Given the description of an element on the screen output the (x, y) to click on. 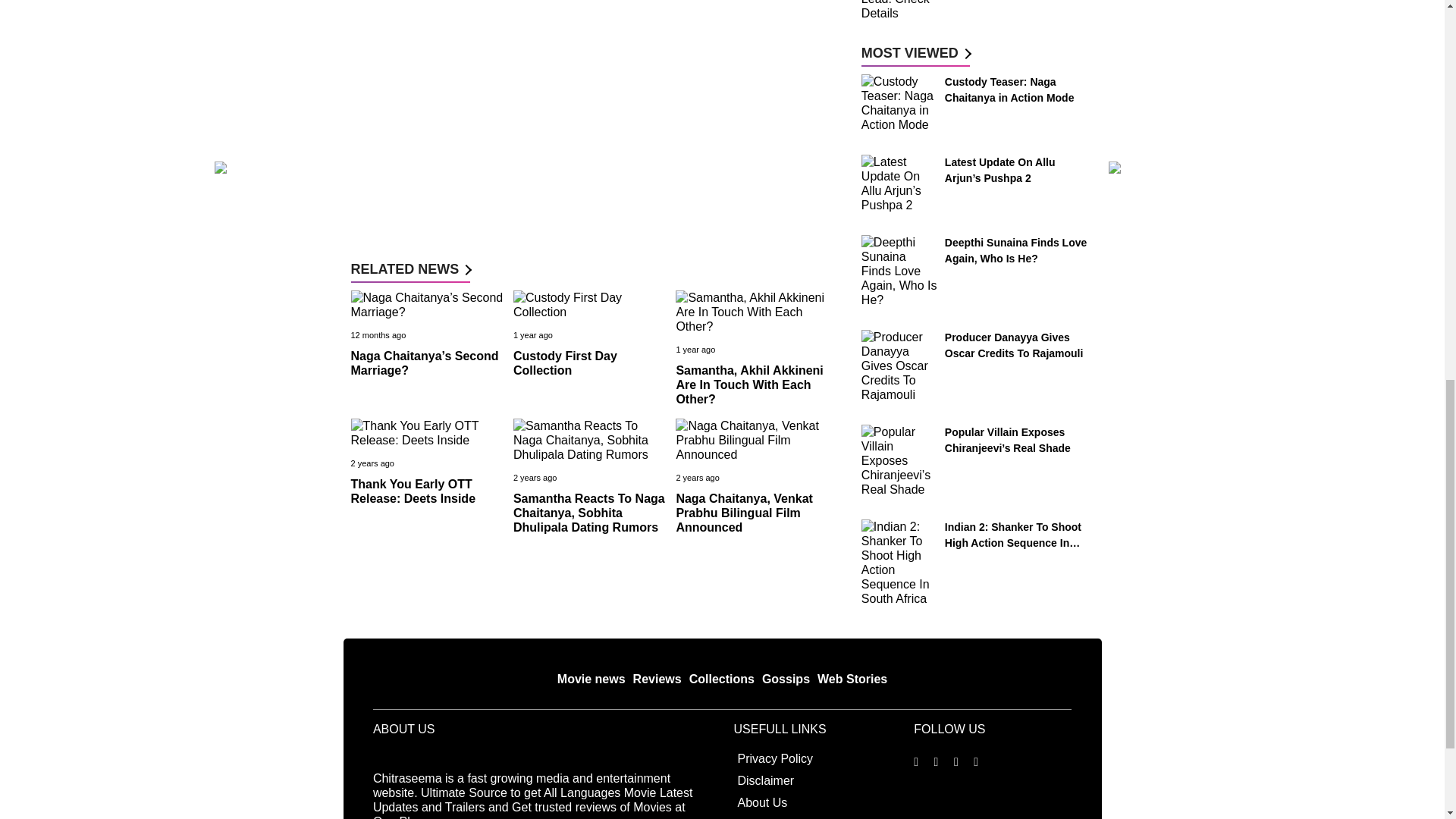
Custody First Day Collection (565, 362)
Samantha, Akhil Akkineni Are In Touch With Each Other? (748, 384)
Naga Chaitanya, Venkat Prabhu Bilingual Film Announced (743, 512)
Naga Chaitanya, Venkat Prabhu Bilingual Film Announced (743, 512)
Samantha, Akhil Akkineni Are In Touch With Each Other? (748, 384)
Custody First Day Collection (565, 362)
Thank You Early OTT Release: Deets Inside (413, 491)
Thank You Early OTT Release: Deets Inside (413, 491)
